Given the description of an element on the screen output the (x, y) to click on. 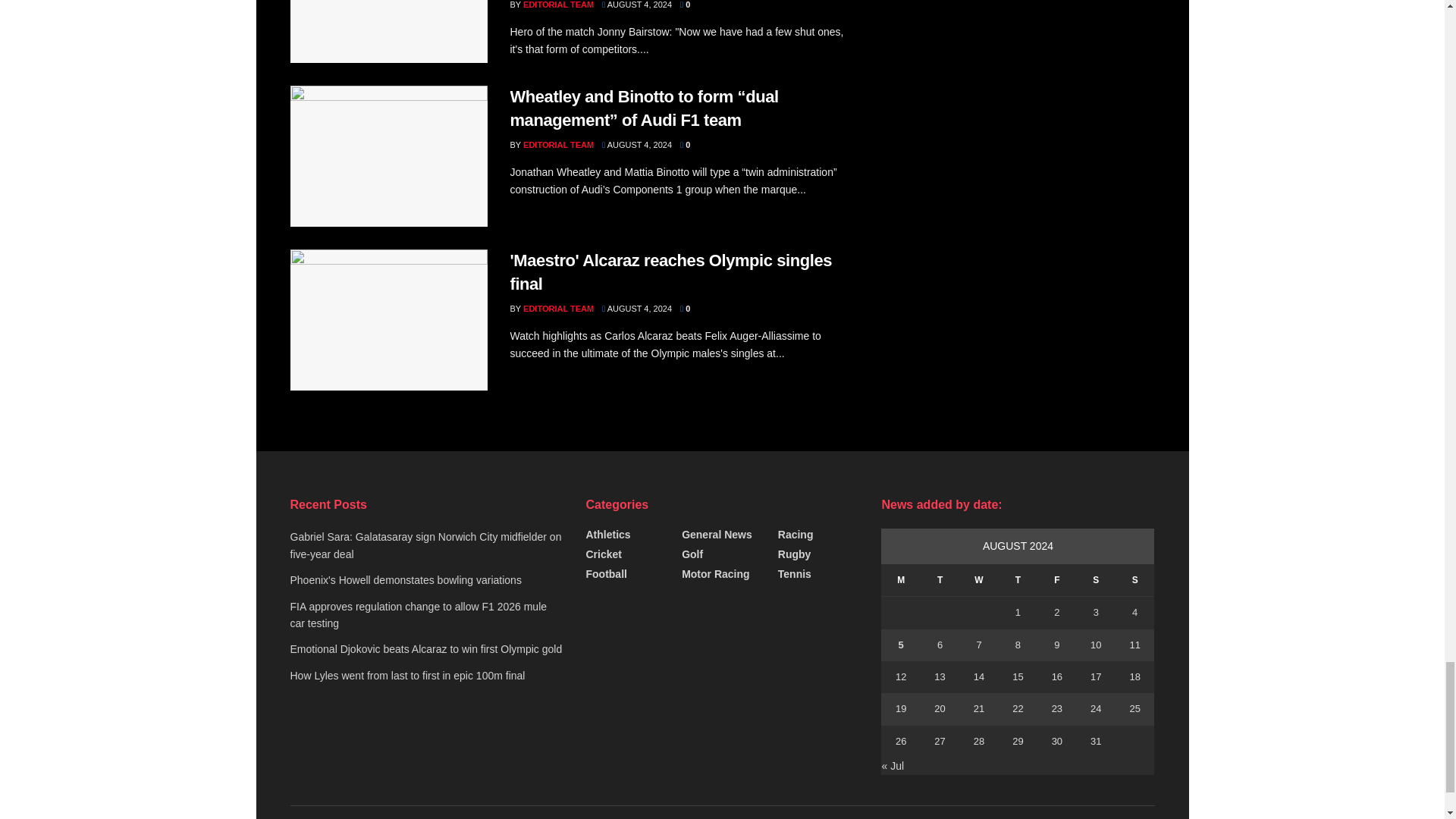
Tuesday (939, 580)
Wednesday (978, 580)
Saturday (1096, 580)
Friday (1055, 580)
Monday (900, 580)
Thursday (1017, 580)
Sunday (1134, 580)
